Given the description of an element on the screen output the (x, y) to click on. 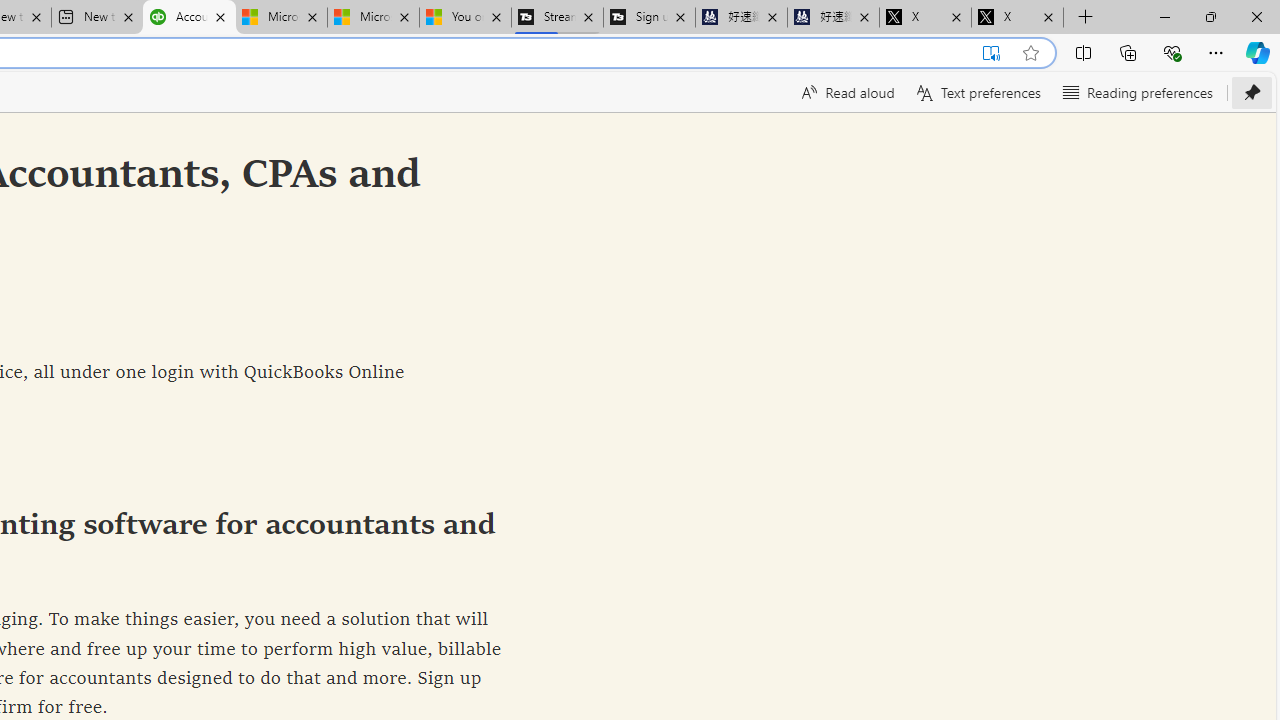
Unpin toolbar (1252, 92)
Reading preferences (1136, 92)
